Given the description of an element on the screen output the (x, y) to click on. 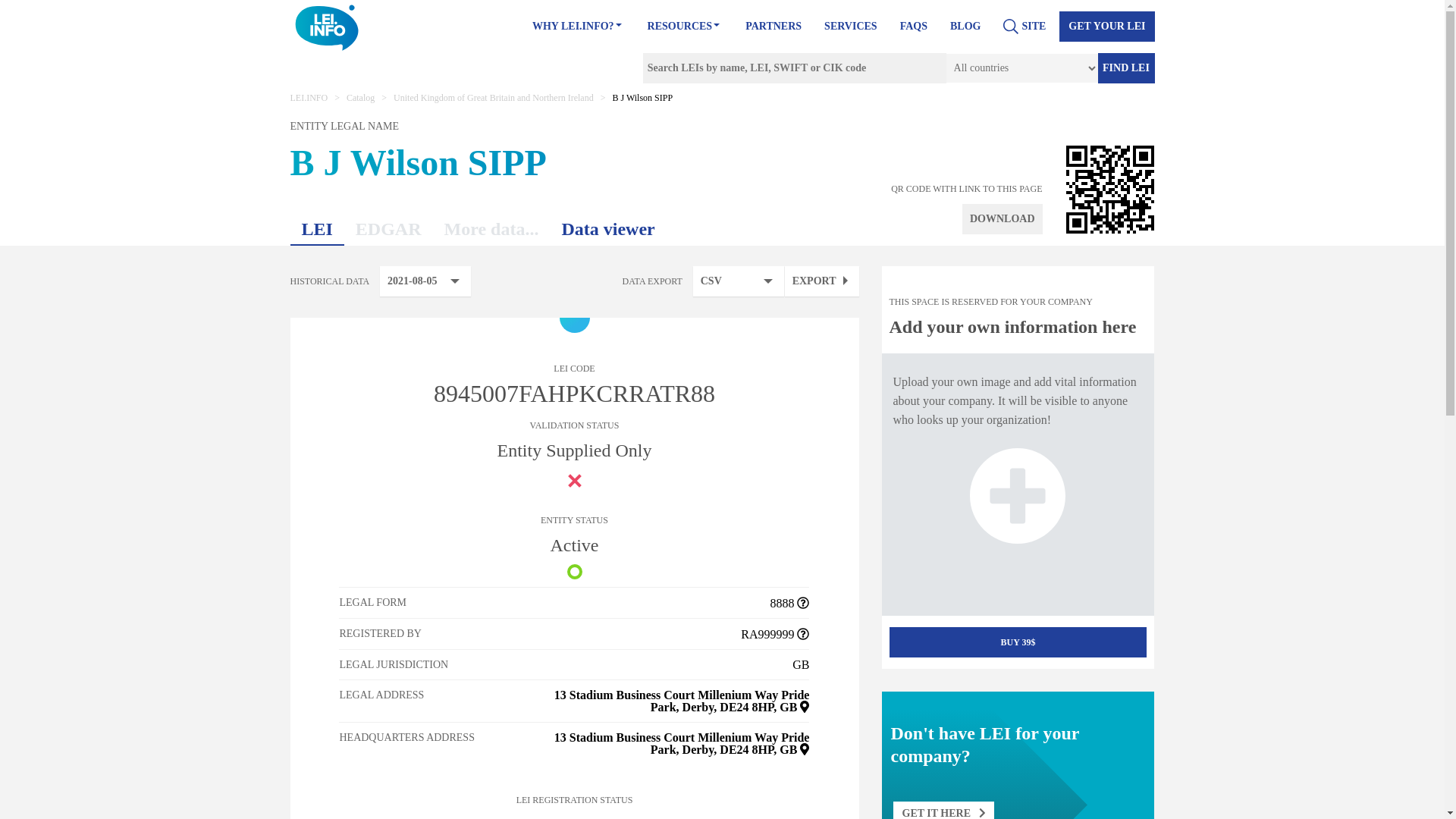
LEI.INFO (308, 97)
Services (850, 26)
WHY LEI.INFO? (577, 26)
DOWNLOAD (1002, 218)
SERVICES (850, 26)
Why Lei.info? (577, 26)
United Kingdom of Great Britain and Northern Ireland (493, 97)
BLOG (965, 26)
SITE (1024, 26)
Partners (773, 26)
RESOURCES (685, 26)
PARTNERS (773, 26)
Catalog (360, 97)
FIND LEI (1125, 68)
Resources (685, 26)
